Given the description of an element on the screen output the (x, y) to click on. 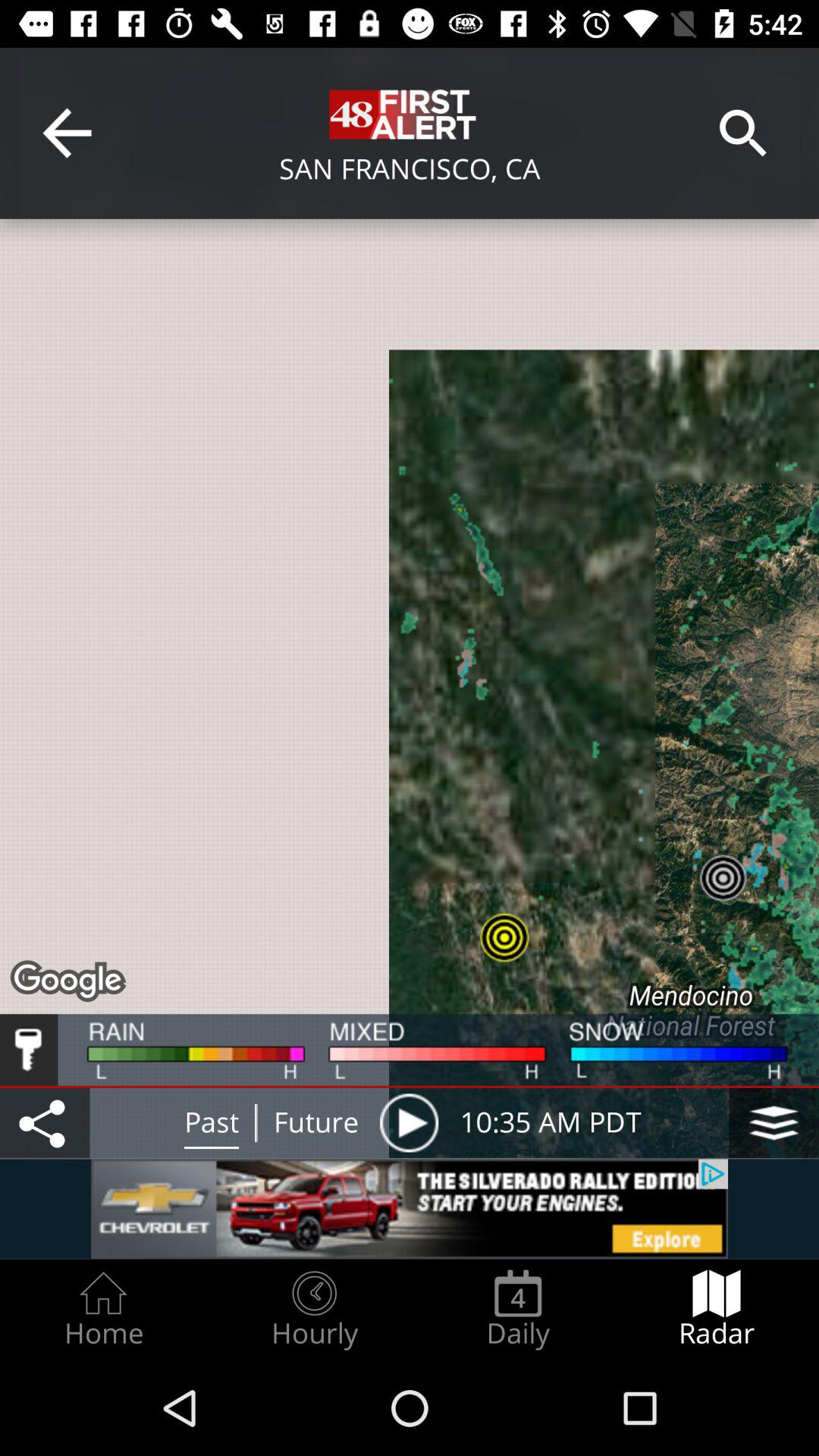
open radio button to the left of the hourly (103, 1309)
